Given the description of an element on the screen output the (x, y) to click on. 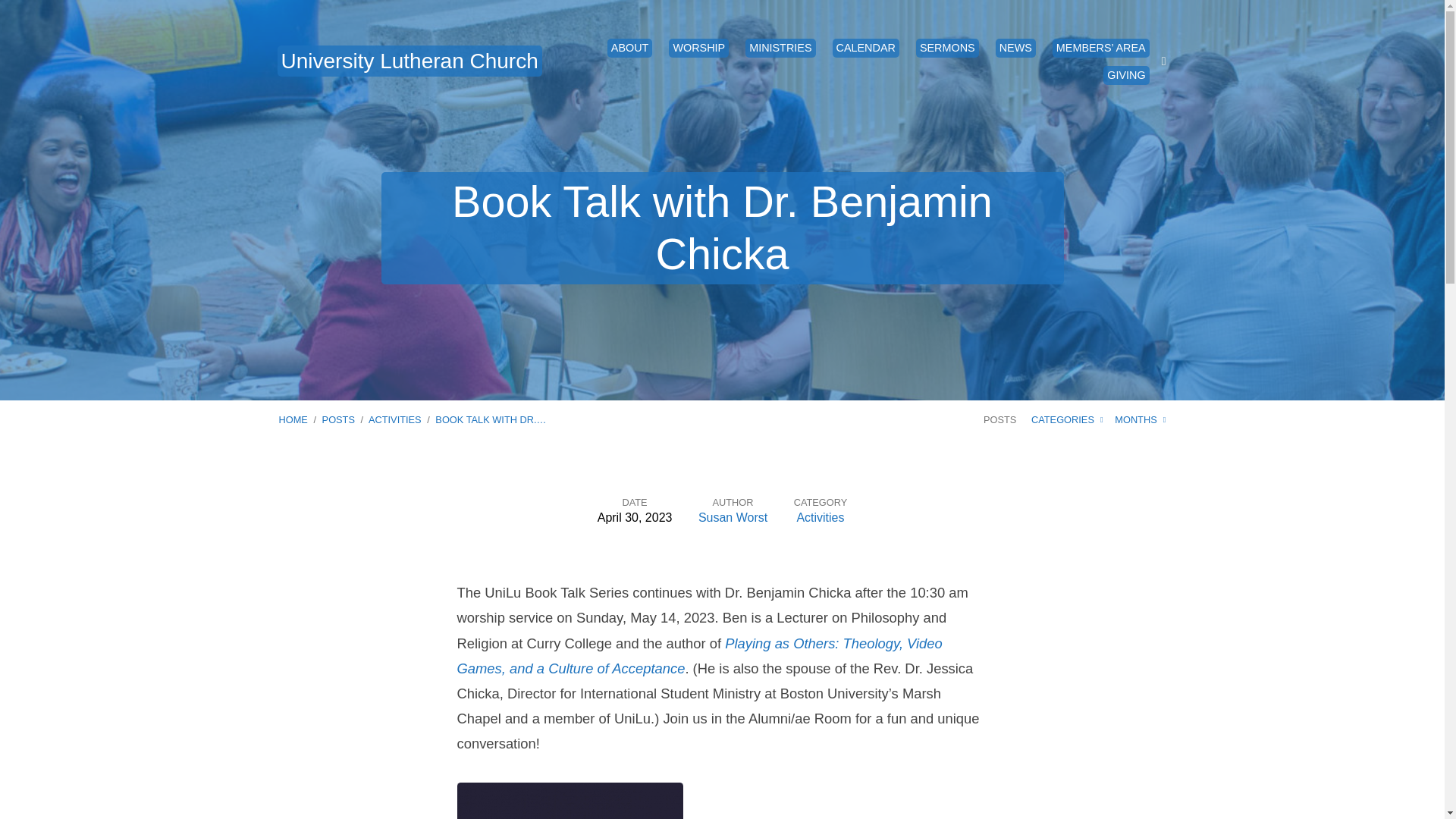
POSTS (338, 419)
ABOUT (629, 47)
WORSHIP (698, 47)
SERMONS (946, 47)
GIVING (1125, 75)
CALENDAR (865, 47)
NEWS (1015, 47)
HOME (293, 419)
MINISTRIES (780, 47)
University Lutheran Church (409, 60)
